Given the description of an element on the screen output the (x, y) to click on. 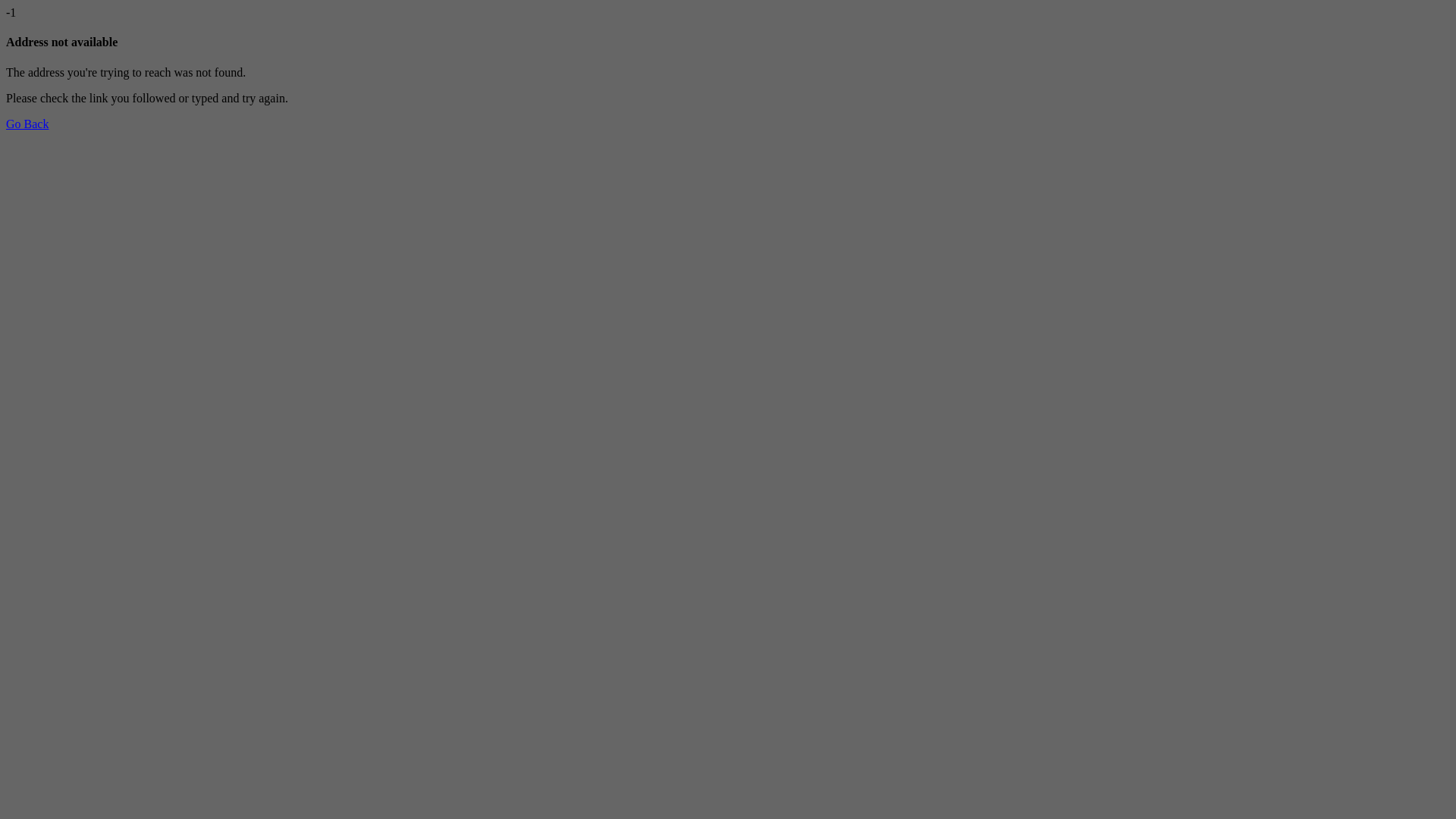
Go Back Element type: text (27, 123)
